Given the description of an element on the screen output the (x, y) to click on. 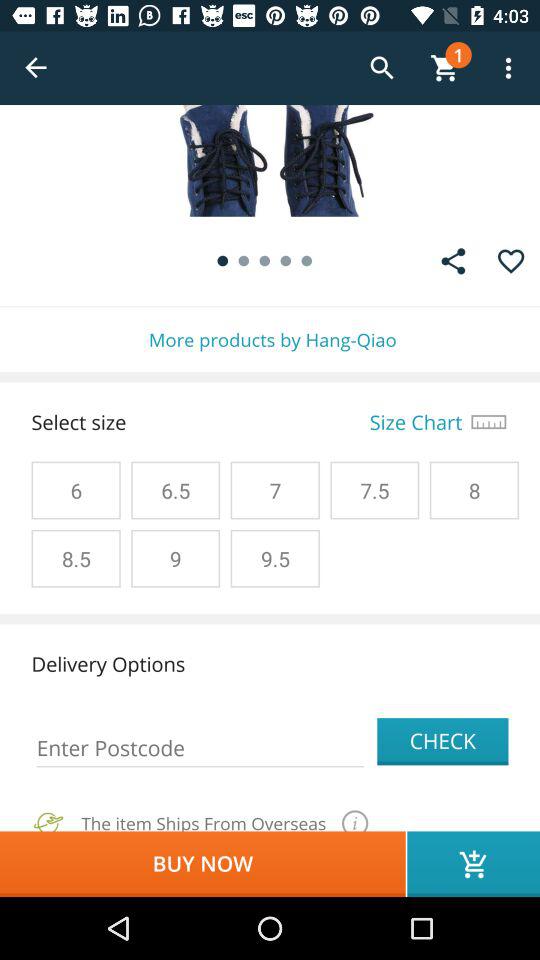
like option (510, 261)
